Given the description of an element on the screen output the (x, y) to click on. 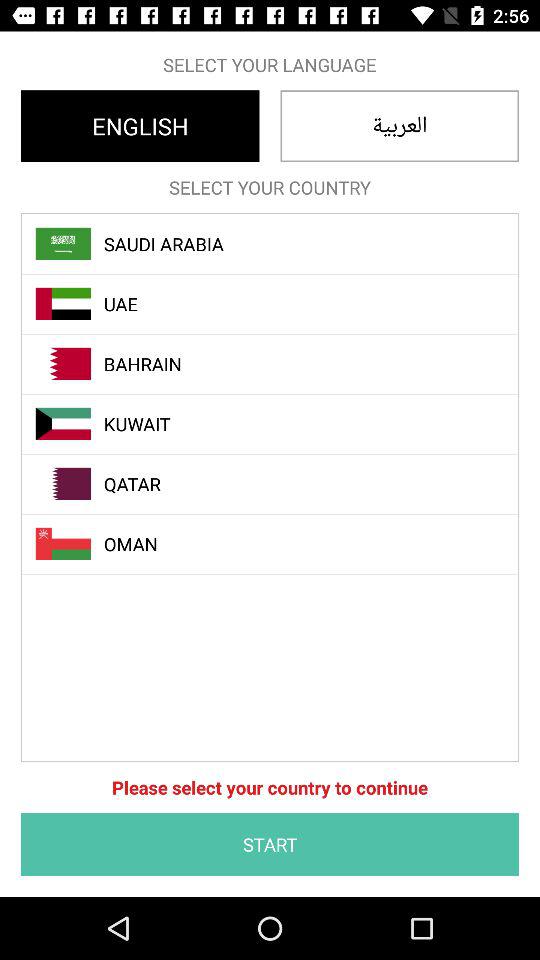
scroll to the uae (281, 303)
